Given the description of an element on the screen output the (x, y) to click on. 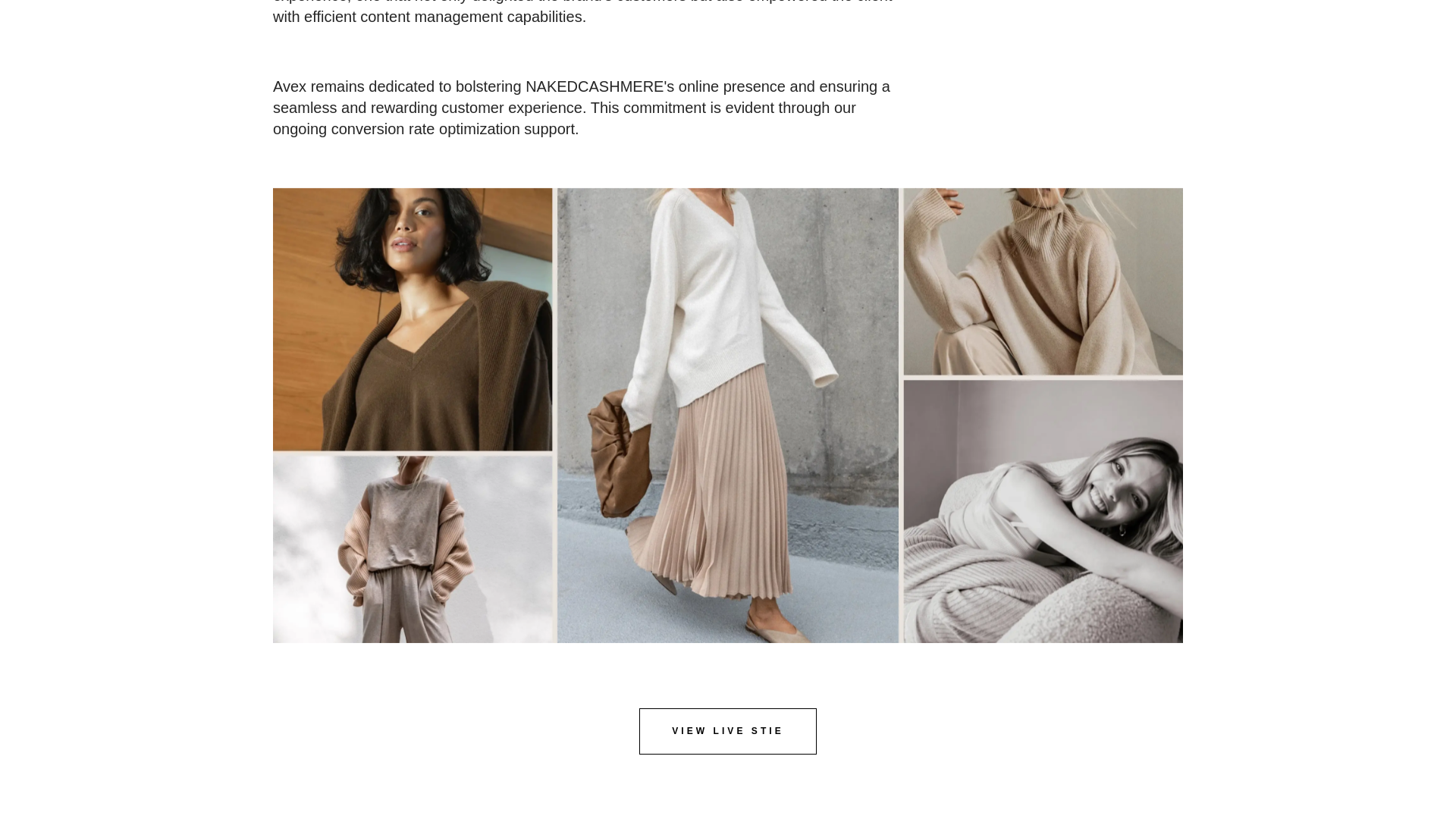
VIEW LIVE STIE (727, 731)
